Given the description of an element on the screen output the (x, y) to click on. 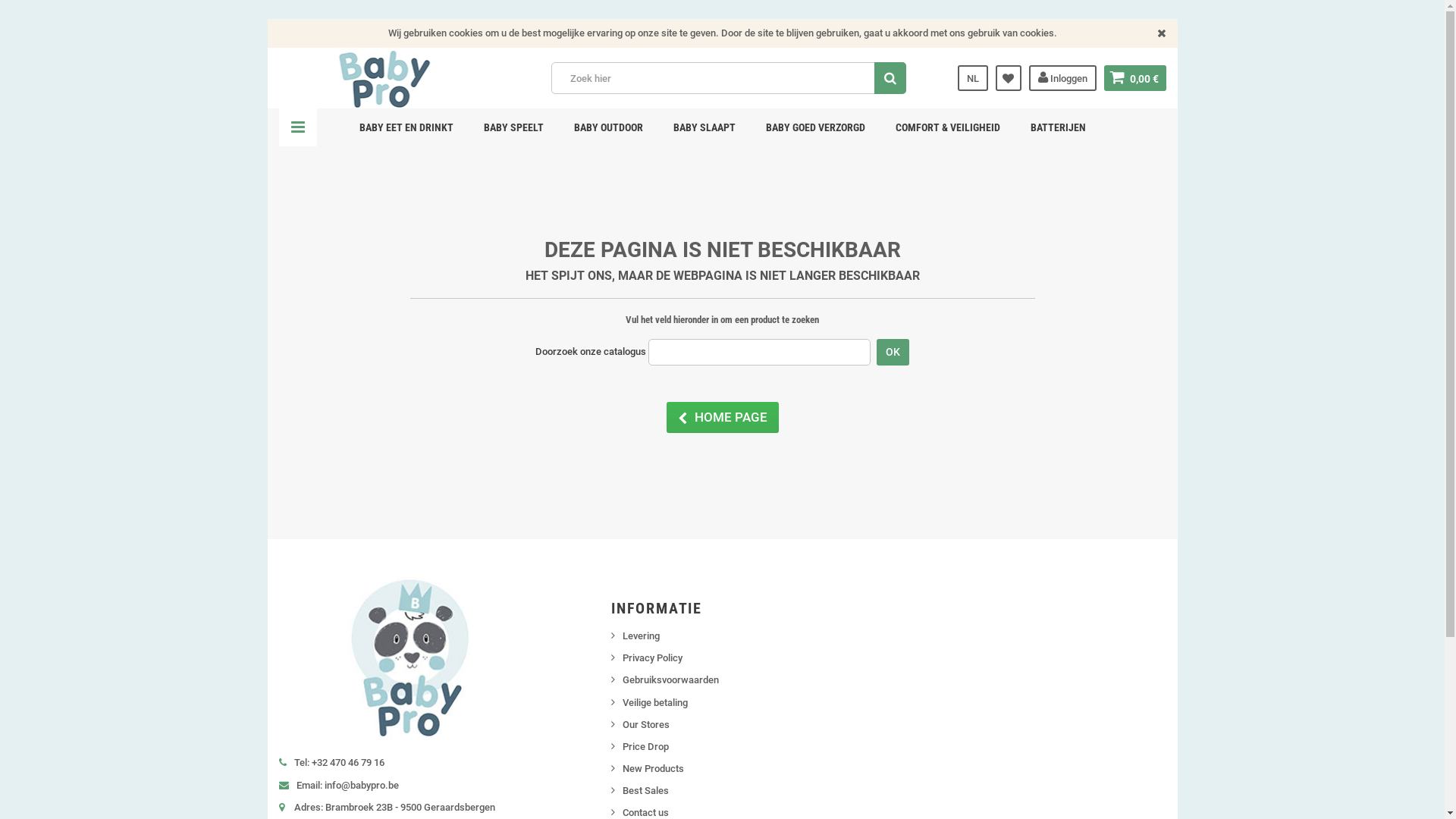
Inloggen Element type: text (1061, 78)
Levering Element type: text (640, 635)
New Products Element type: text (653, 768)
OK Element type: text (892, 351)
HOME PAGE Element type: text (721, 417)
Our Stores Element type: text (645, 724)
Navigatie Element type: text (297, 127)
Best Sales Element type: text (645, 790)
BABY EET EN DRINKT Element type: text (405, 127)
Gebruiksvoorwaarden Element type: text (670, 679)
Privacy Policy Element type: text (652, 657)
BABY SPEELT Element type: text (512, 127)
BATTERIJEN Element type: text (1058, 127)
My wishlists Element type: hover (1007, 78)
Price Drop Element type: text (645, 746)
Contact us Element type: text (645, 812)
COMFORT & VEILIGHEID Element type: text (947, 127)
BABY OUTDOOR Element type: text (608, 127)
BABY SLAAPT Element type: text (703, 127)
BABY GOED VERZORGD Element type: text (814, 127)
Veilige betaling Element type: text (654, 702)
